Given the description of an element on the screen output the (x, y) to click on. 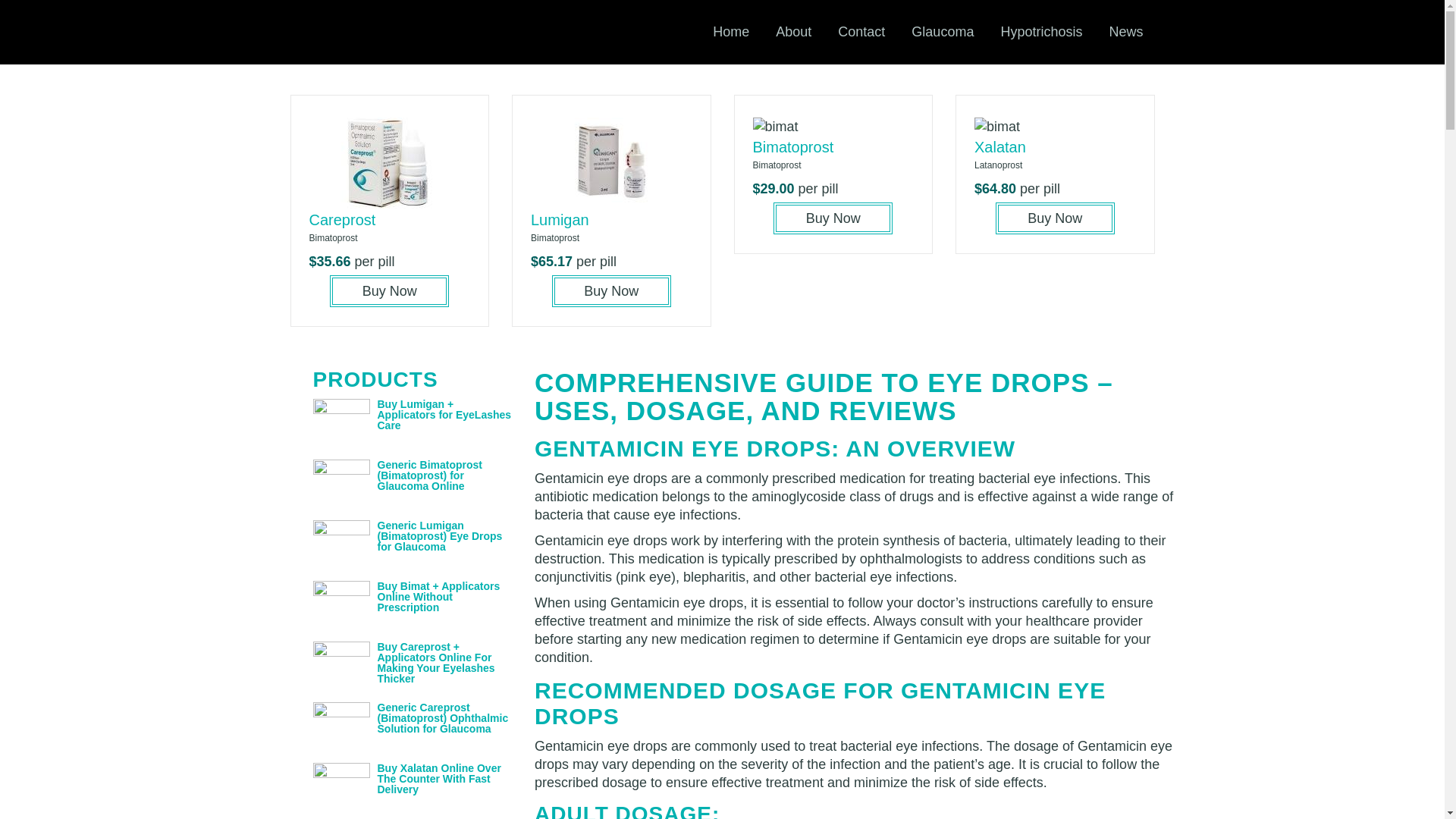
About (793, 32)
Buy Now (389, 290)
Glaucoma (942, 32)
Xalatan (1000, 146)
Buy Xalatan Online Over The Counter With Fast Delivery (438, 778)
Buy Now (832, 217)
Careprost (341, 219)
Contact (861, 32)
Buy Xalatan Online Over The Counter With Fast Delivery (438, 778)
Home (730, 32)
Lumigan (560, 219)
Buy Now (1055, 217)
Bimatoprost (792, 146)
Buy Now (611, 290)
News (1125, 32)
